Given the description of an element on the screen output the (x, y) to click on. 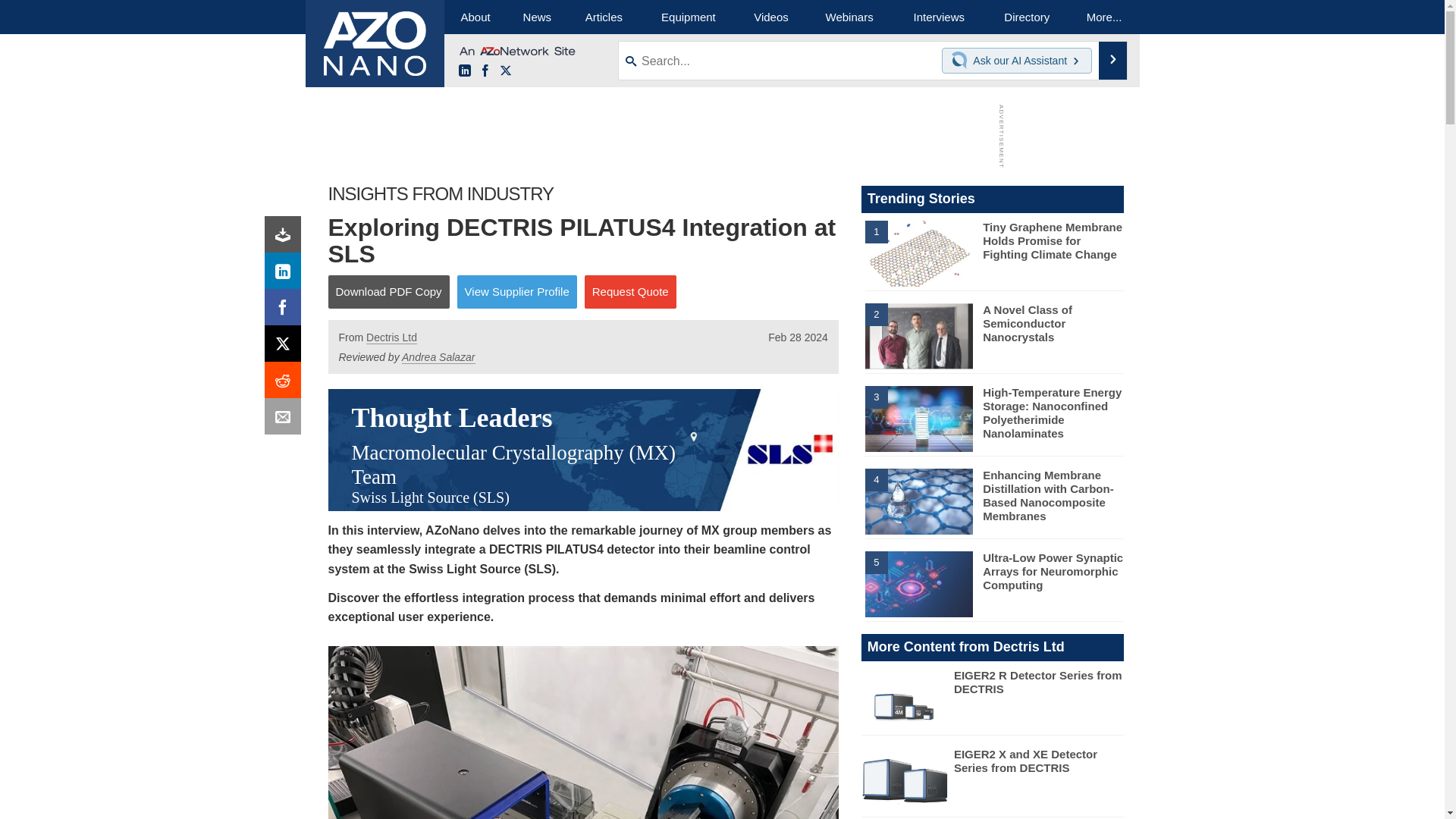
About (475, 17)
Facebook (285, 311)
Articles (603, 17)
LinkedIn (464, 71)
Facebook (485, 71)
Webinars (849, 17)
Equipment (688, 17)
Chat with our AI Assistant Ask our AI Assistant (1017, 60)
Chat with our AI Assistant (962, 60)
